Given the description of an element on the screen output the (x, y) to click on. 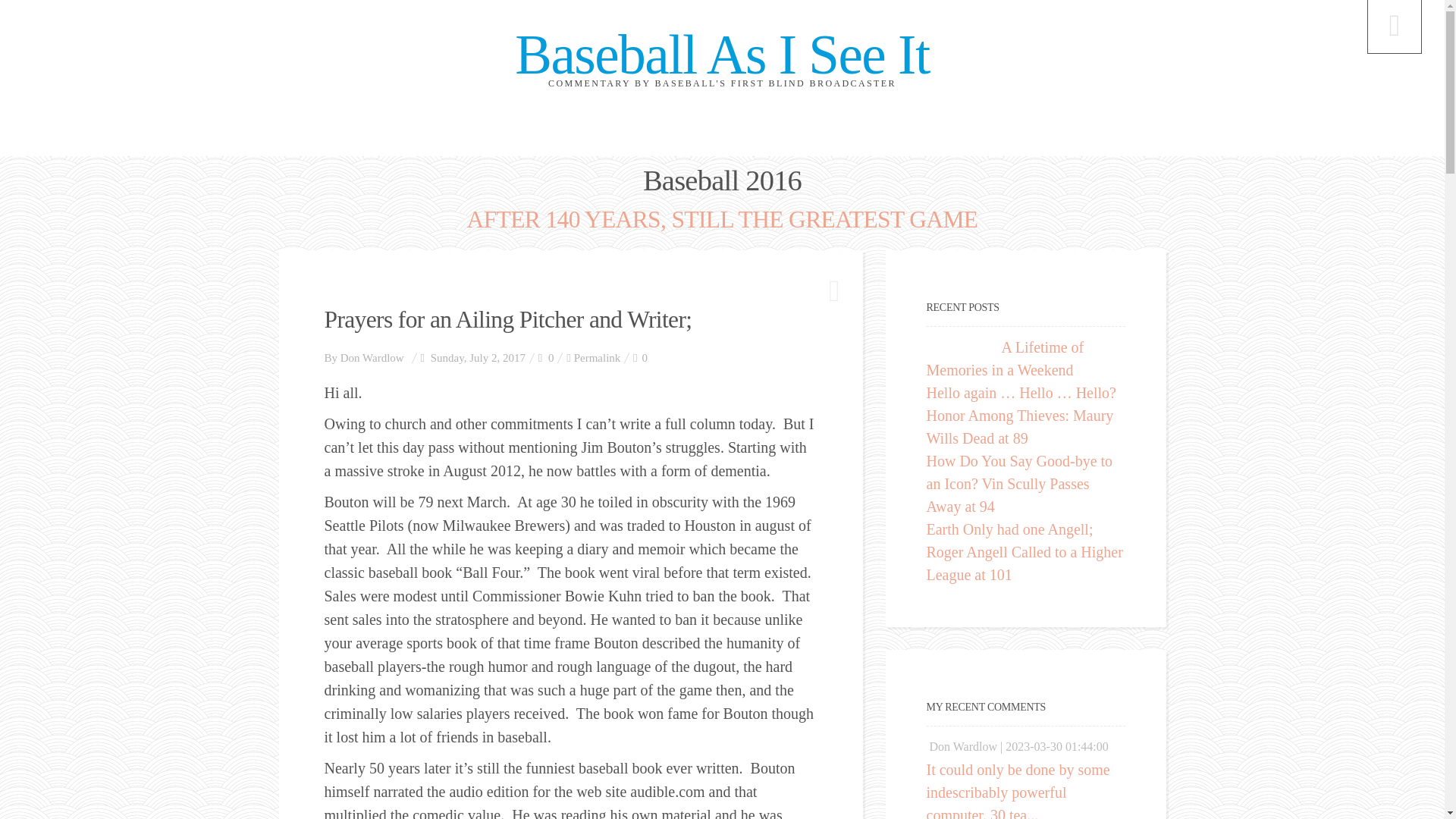
Don Wardlow (372, 357)
Permalink Prayers for an Ailing Pitcher and Writer; (597, 357)
Baseball As I See It (722, 54)
0 (640, 357)
Like this (640, 357)
Commentary by Baseball's First Blind Broadcaster (722, 54)
Honor Among Thieves: Maury Wills Dead at 89 (1019, 426)
Go to this comment (1017, 790)
